Given the description of an element on the screen output the (x, y) to click on. 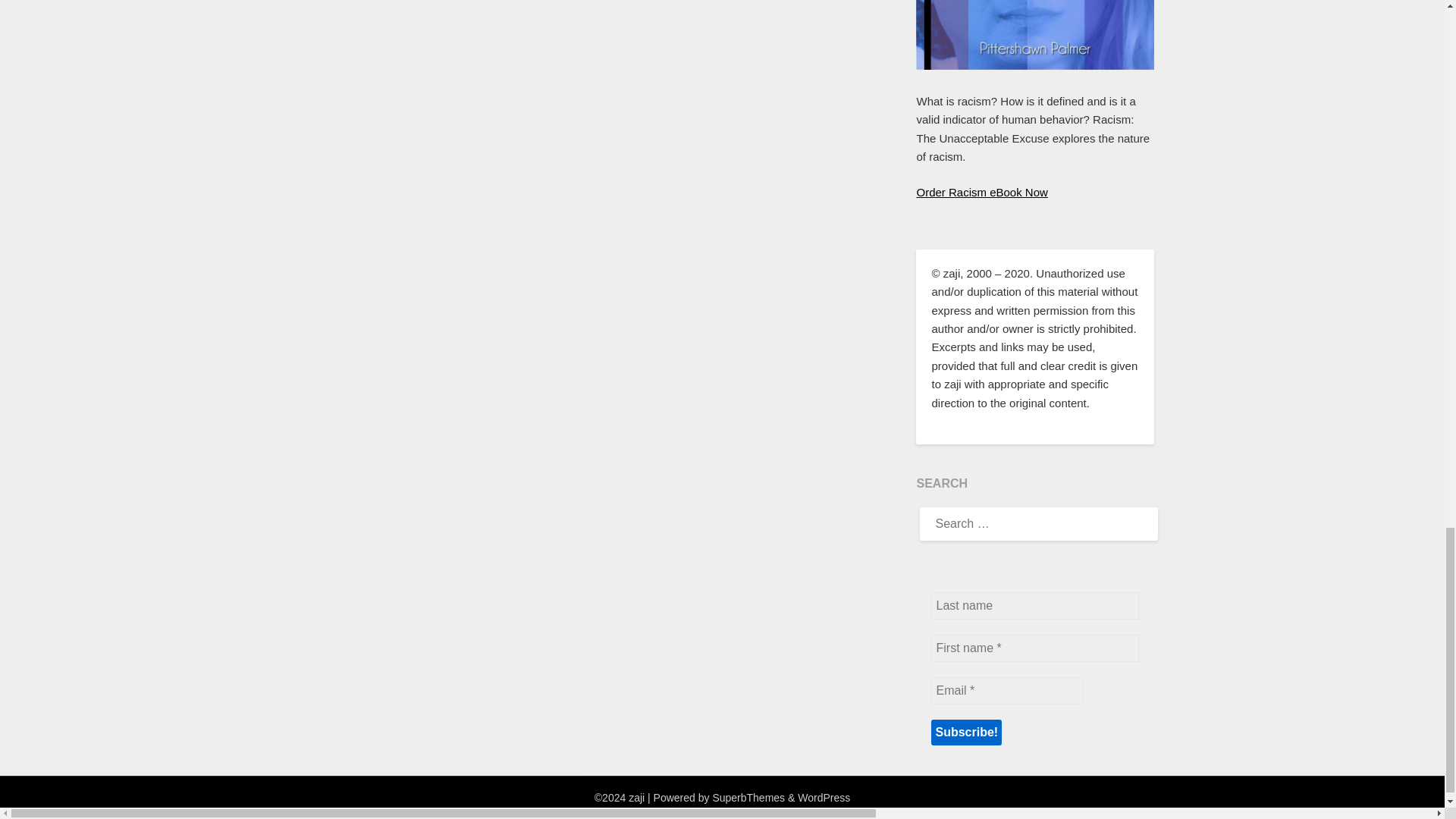
SuperbThemes (747, 797)
Subscribe! (966, 732)
Last name (1034, 605)
First name (1034, 647)
Subscribe! (966, 732)
Email (1007, 690)
Order Racism eBook Now (980, 192)
